Given the description of an element on the screen output the (x, y) to click on. 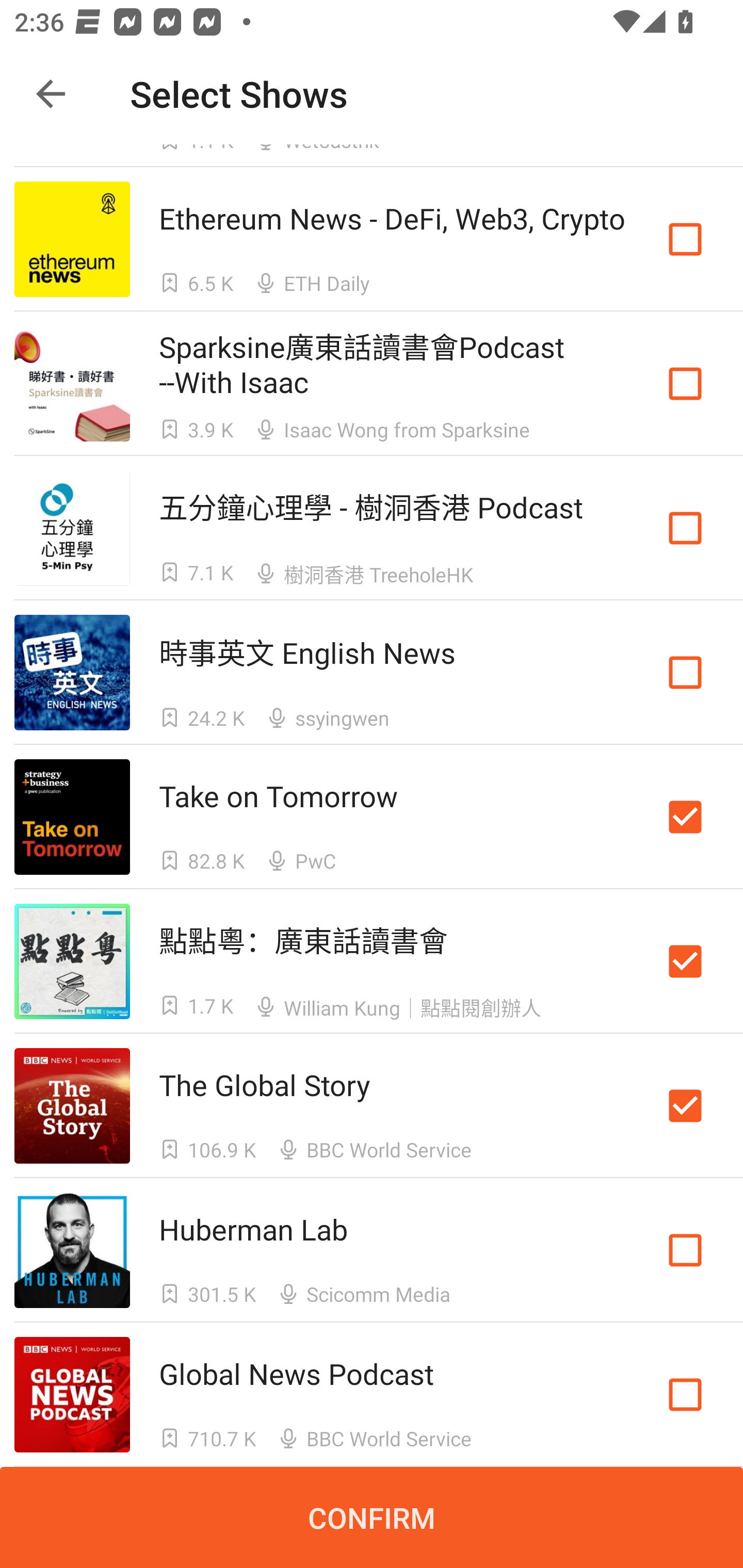
Navigate up (50, 93)
Take on Tomorrow Take on Tomorrow  82.8 K  PwC (371, 816)
CONFIRM (371, 1517)
